Given the description of an element on the screen output the (x, y) to click on. 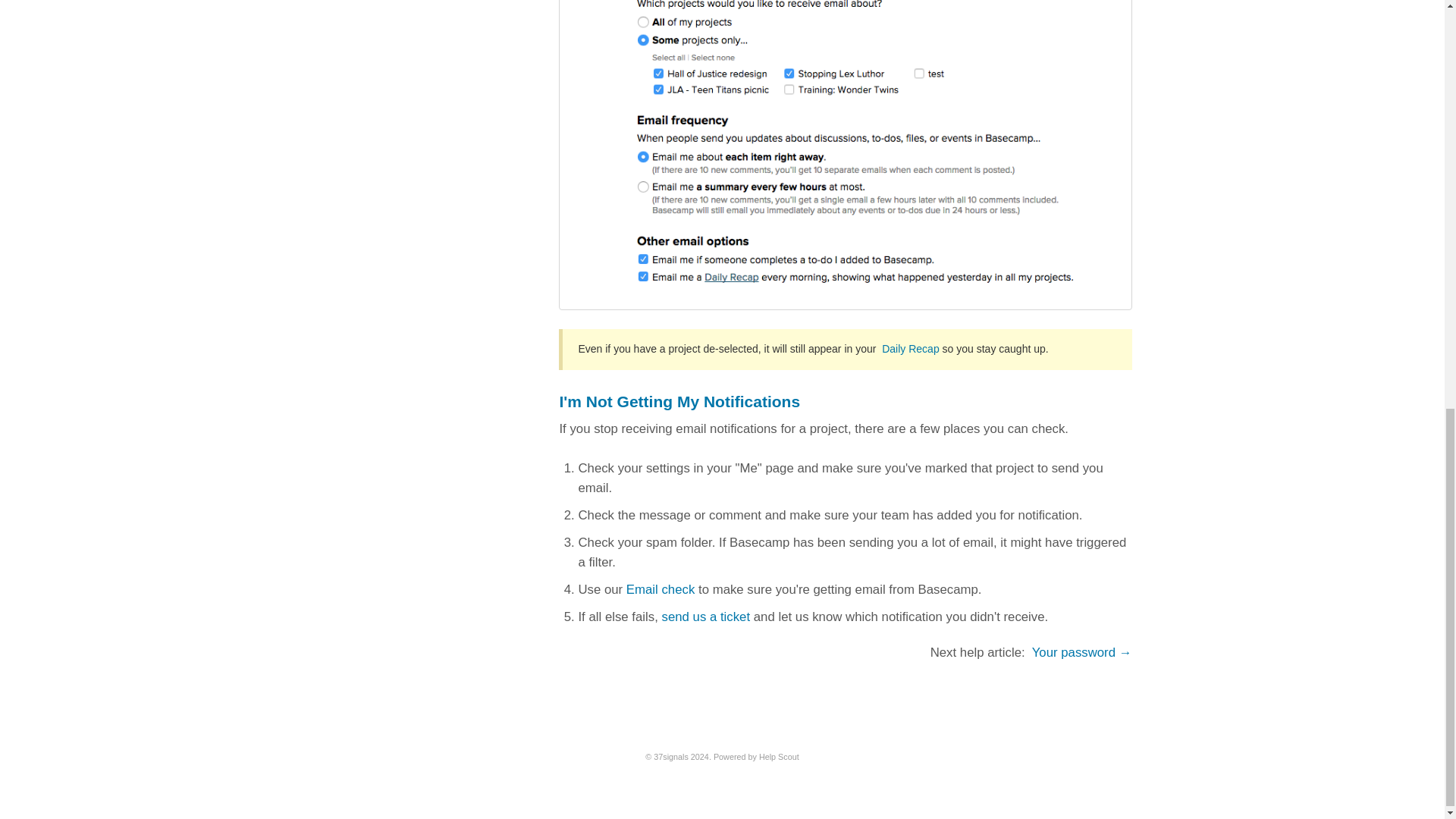
Daily Recap (910, 348)
send us a ticket (705, 616)
37signals (670, 756)
I'm Not Getting My Notifications (679, 401)
Help Scout (778, 756)
Email check (660, 589)
